Given the description of an element on the screen output the (x, y) to click on. 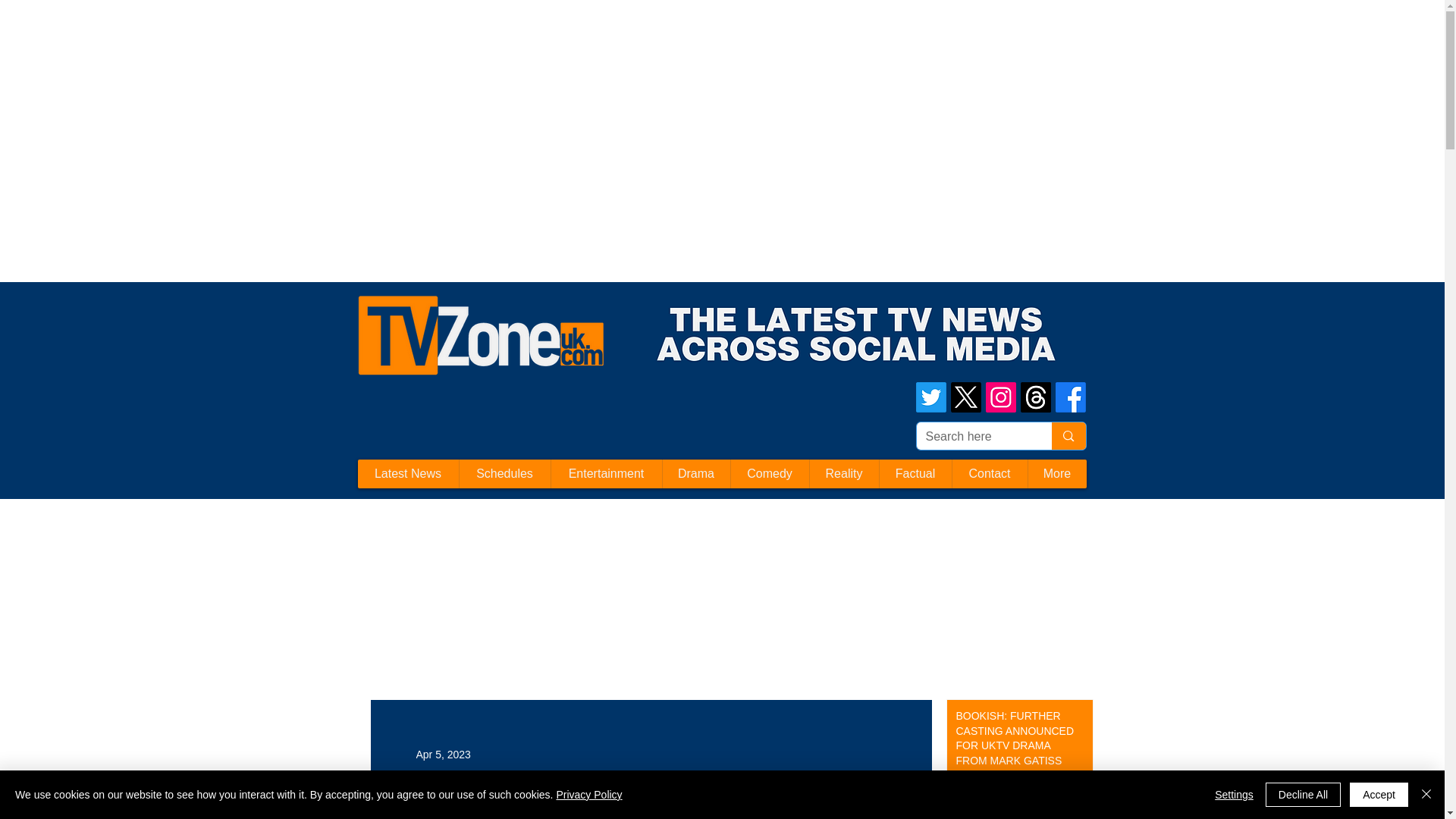
Reality (842, 473)
2 min (965, 787)
Schedules (504, 473)
Drama (695, 473)
Latest News (408, 473)
Factual (913, 473)
Contact (988, 473)
Entertainment (606, 473)
Advertisement (275, 33)
Comedy (768, 473)
Apr 5, 2023 (442, 753)
